Given the description of an element on the screen output the (x, y) to click on. 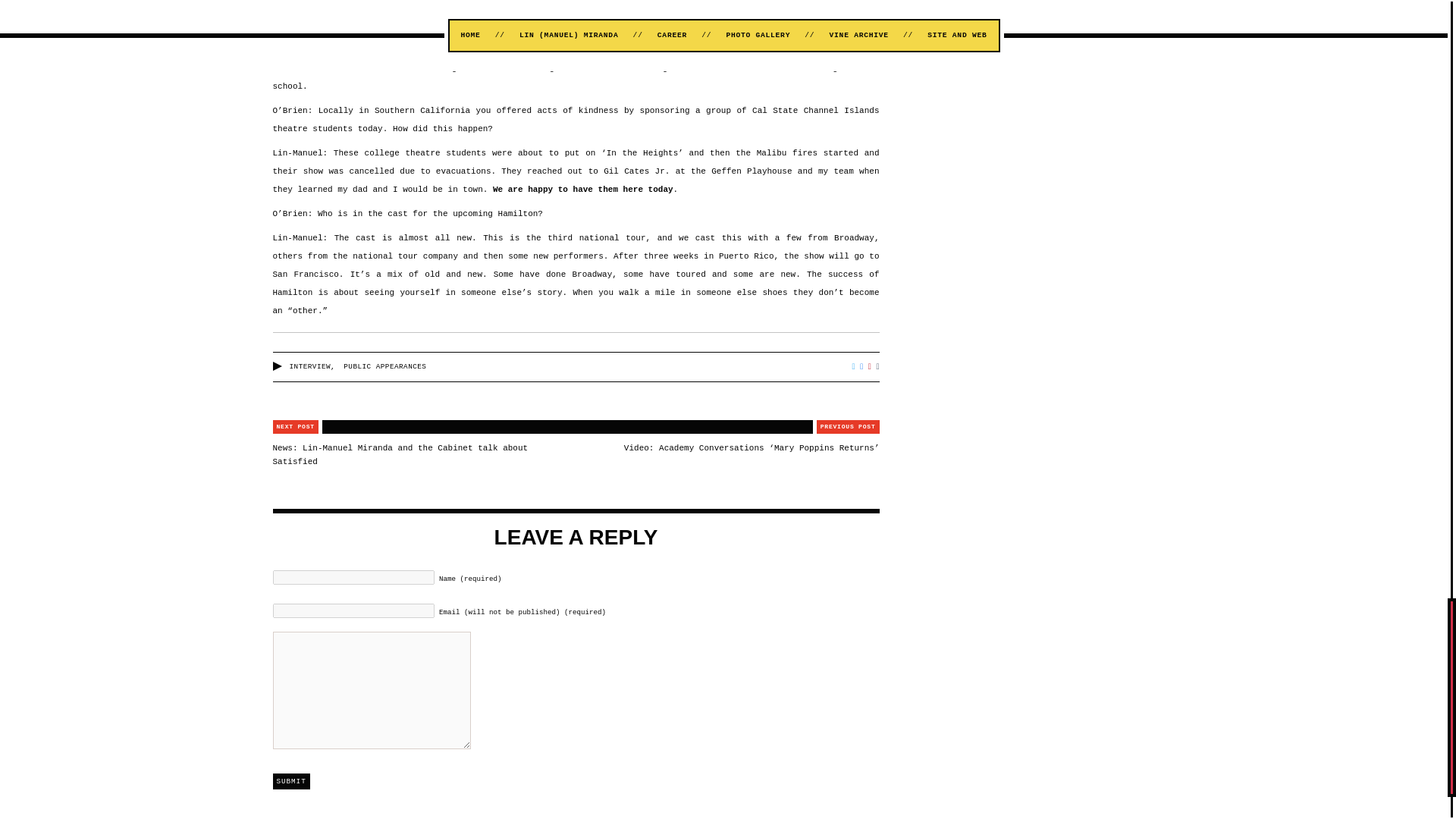
INTERVIEW (310, 366)
We are happy to have them here today (582, 189)
PUBLIC APPEARANCES (384, 366)
Submit (291, 781)
